Given the description of an element on the screen output the (x, y) to click on. 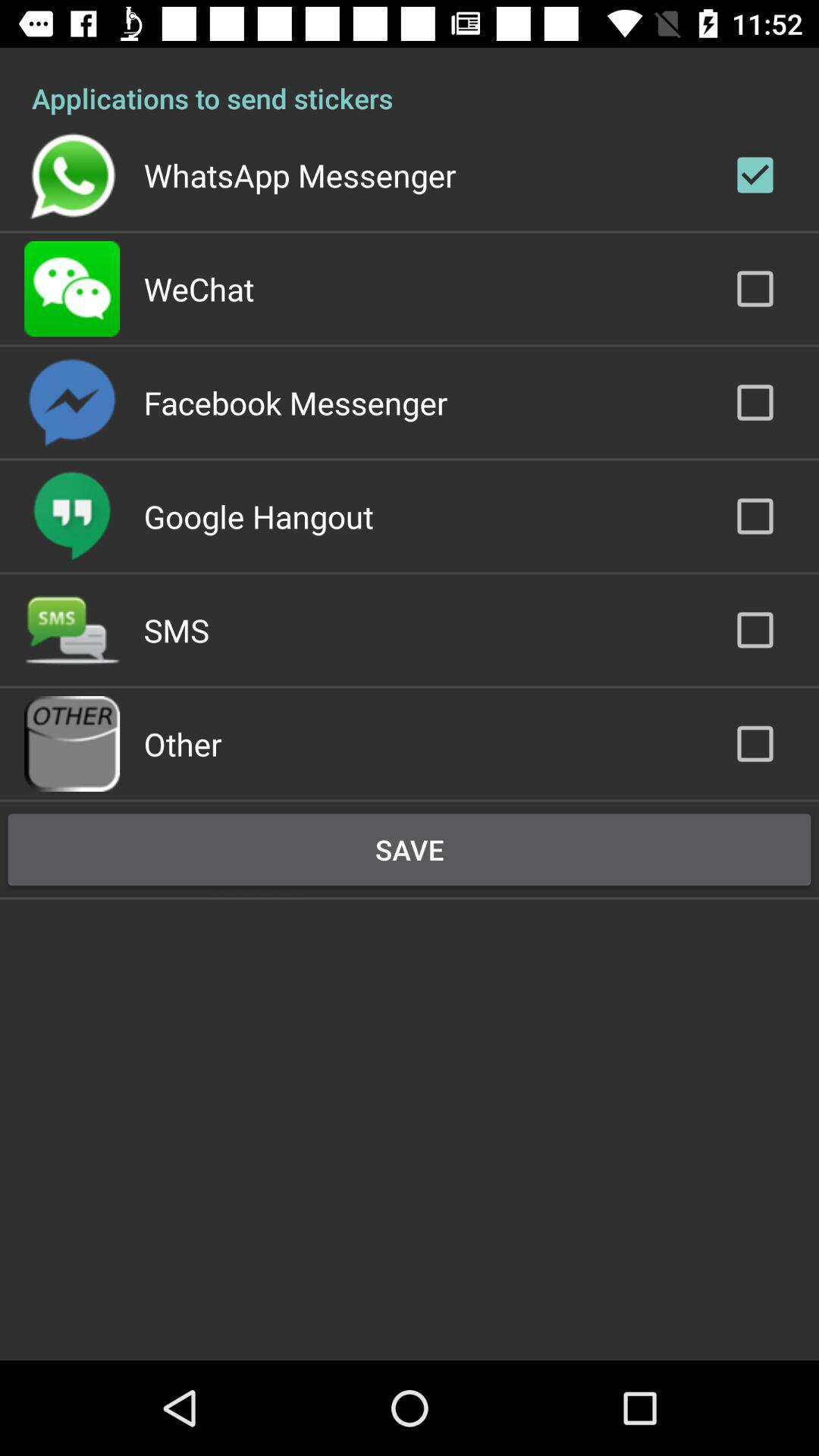
turn off the facebook messenger (295, 402)
